Given the description of an element on the screen output the (x, y) to click on. 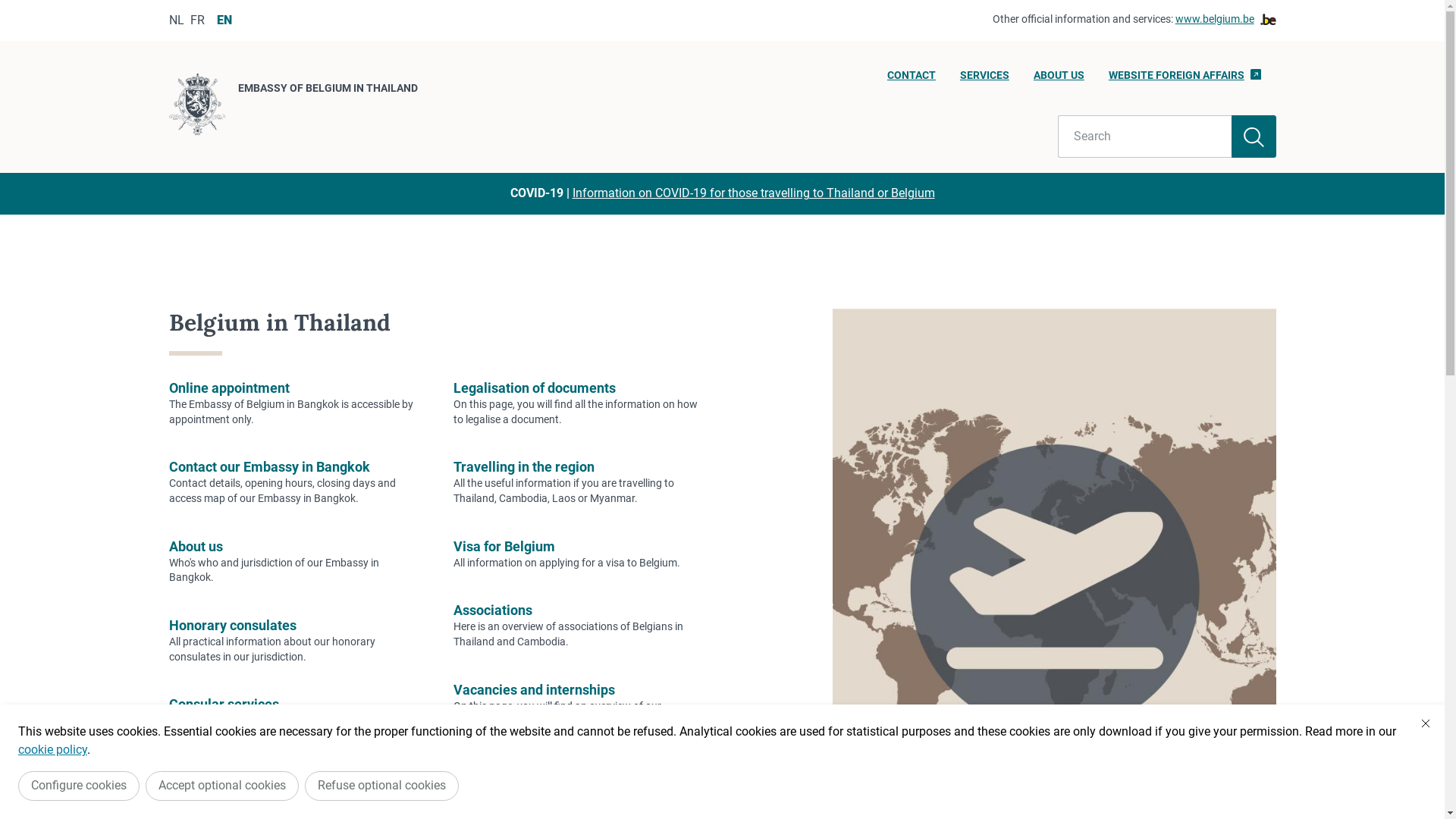
Configure cookies Element type: text (78, 785)
Close Element type: hover (1425, 723)
Search Element type: hover (1144, 136)
Skip to main content Element type: text (7, 4)
cookie policy Element type: text (52, 749)
Consular services Element type: text (223, 704)
Travelling in the region Element type: text (523, 466)
Legalisation of documents Element type: text (534, 387)
Accept optional cookies Element type: text (221, 785)
WEBSITE FOREIGN AFFAIRS Element type: text (1184, 79)
Refuse optional cookies Element type: text (381, 785)
About us Element type: text (195, 546)
Visa for Belgium Element type: text (504, 546)
EMBASSY OF BELGIUM IN THAILAND Element type: text (292, 106)
www.belgium.be Element type: text (1225, 19)
Honorary consulates Element type: text (231, 625)
SERVICES Element type: text (984, 79)
Contact our Embassy in Bangkok Element type: text (268, 466)
Apply filter Element type: text (1253, 136)
Vacancies and internships Element type: text (534, 689)
FR Element type: text (196, 19)
ABOUT US Element type: text (1058, 79)
Online appointment Element type: text (228, 387)
CONTACT Element type: text (911, 79)
EN Element type: text (224, 19)
Associations Element type: text (492, 610)
NL Element type: text (175, 19)
